Given the description of an element on the screen output the (x, y) to click on. 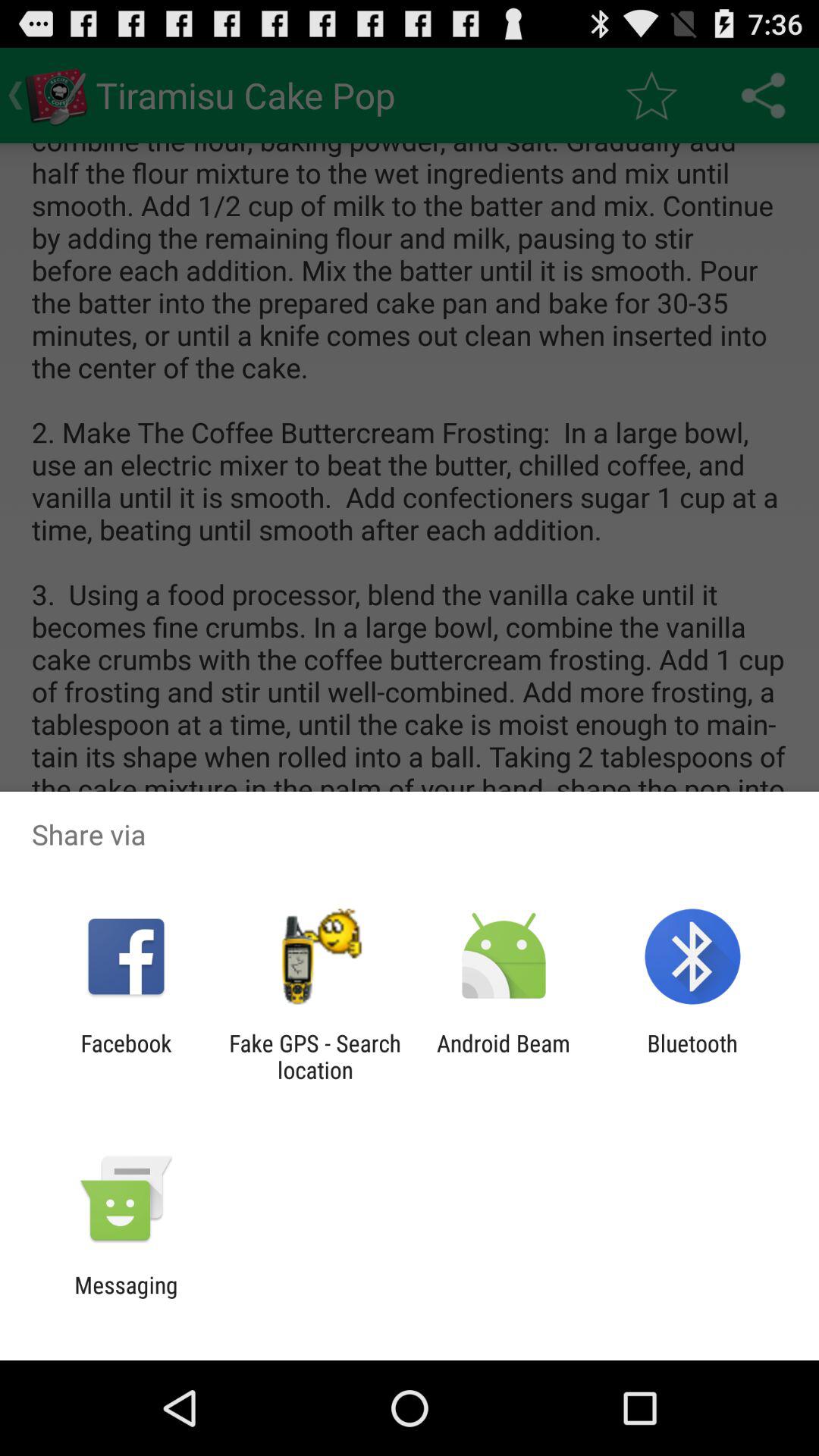
turn off the android beam app (503, 1056)
